Given the description of an element on the screen output the (x, y) to click on. 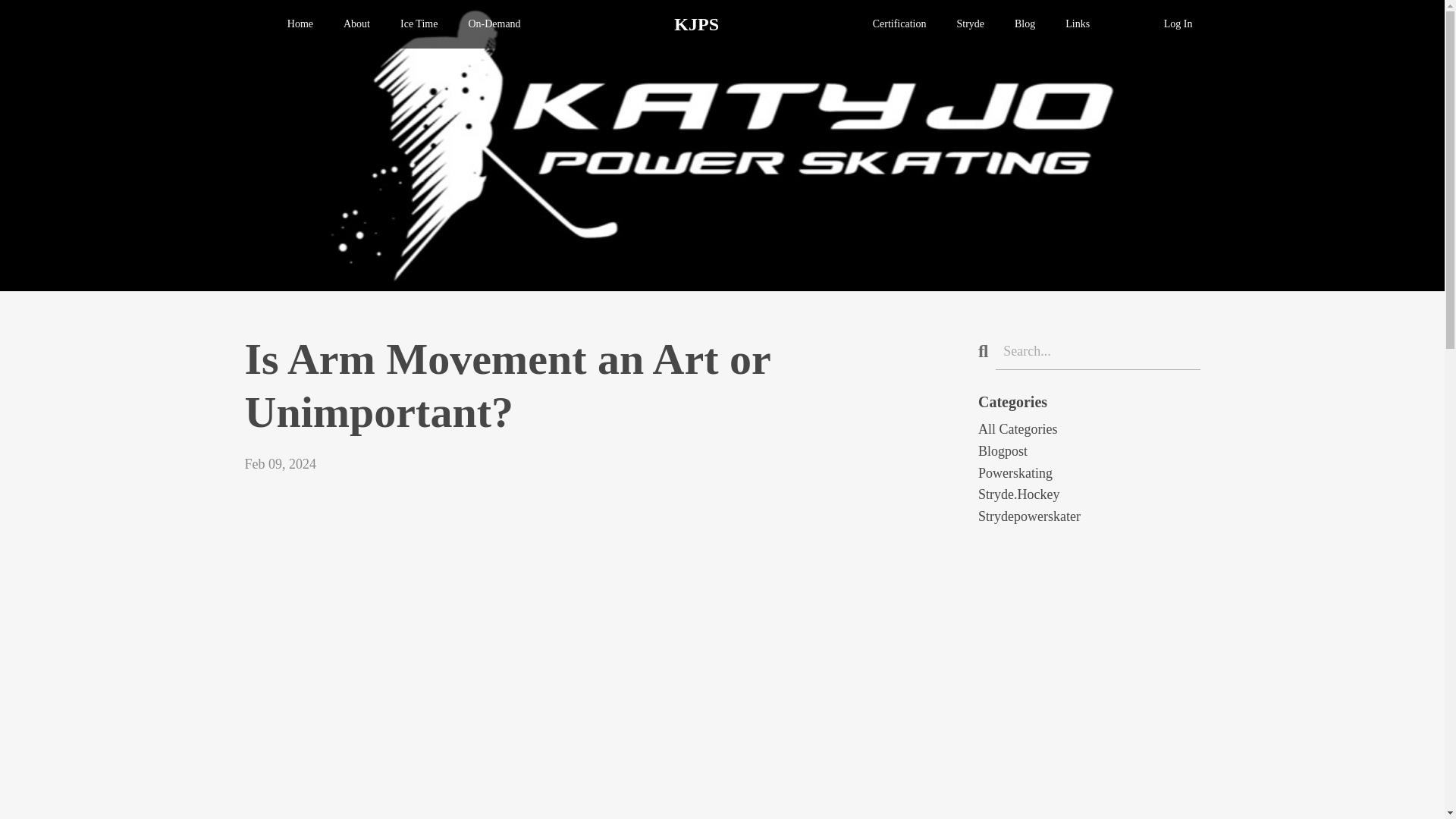
Log In (1177, 23)
Blog (1024, 23)
Powerskating (1088, 473)
About (356, 23)
Stryde.Hockey (1088, 495)
Strydepowerskater (1088, 516)
Blogpost (1088, 451)
Links (1077, 23)
On-Demand (493, 23)
Stryde (970, 23)
